Given the description of an element on the screen output the (x, y) to click on. 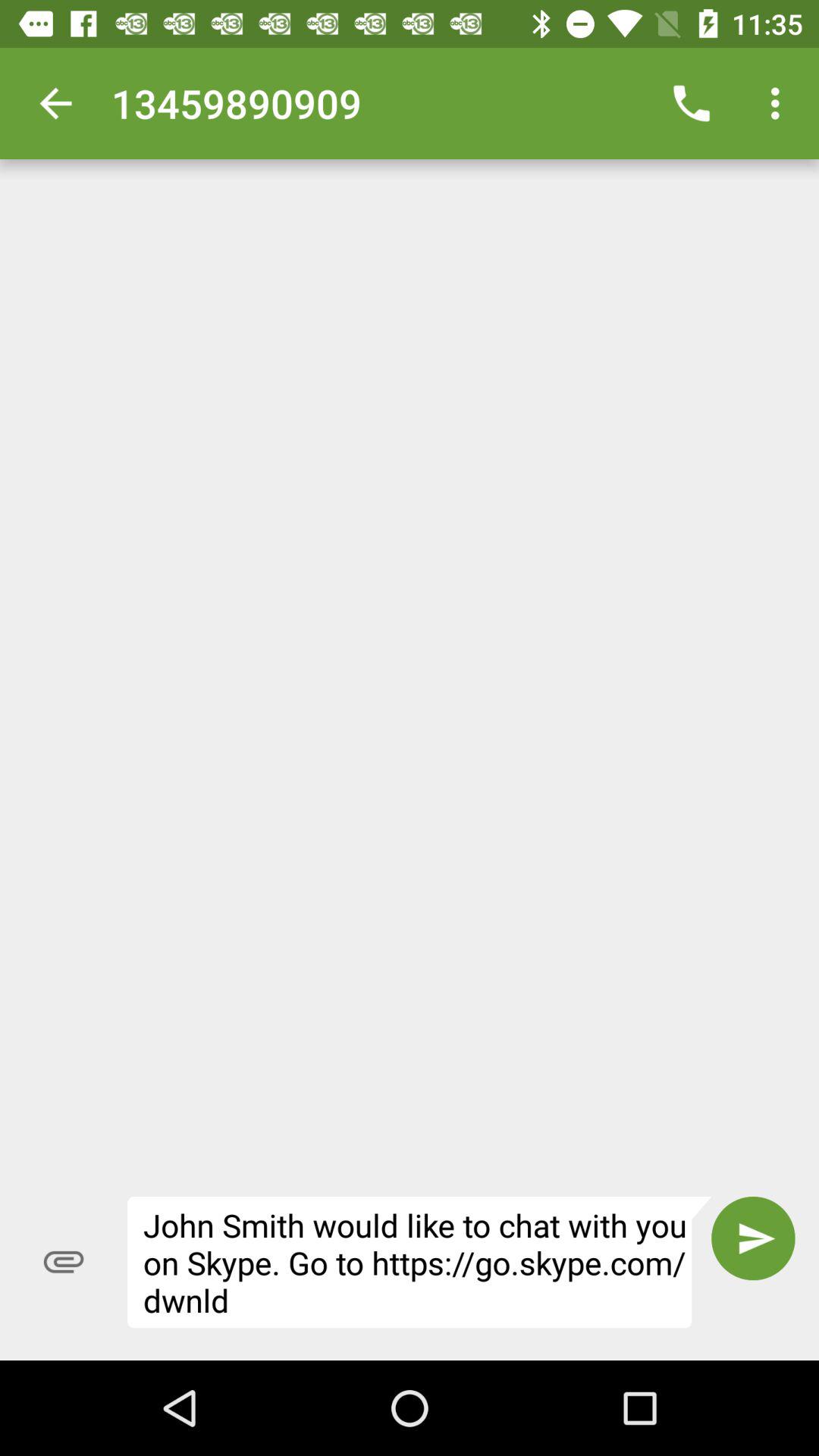
turn off the item next to john smith would (753, 1238)
